Given the description of an element on the screen output the (x, y) to click on. 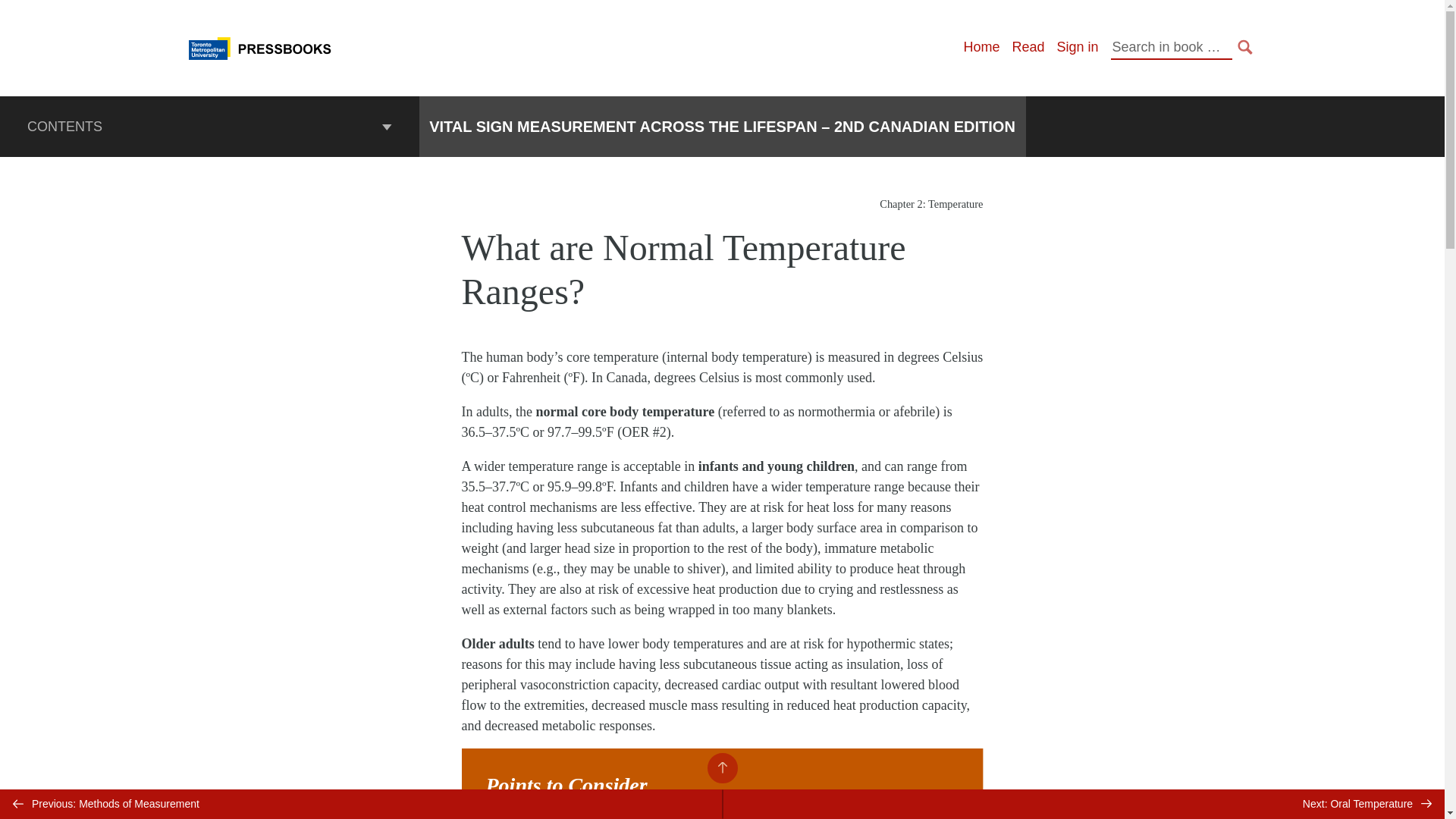
BACK TO TOP (721, 767)
Home (980, 46)
Read (1027, 46)
Previous: Methods of Measurement (361, 804)
CONTENTS (209, 126)
Previous: Methods of Measurement (361, 804)
Sign in (1077, 46)
